Given the description of an element on the screen output the (x, y) to click on. 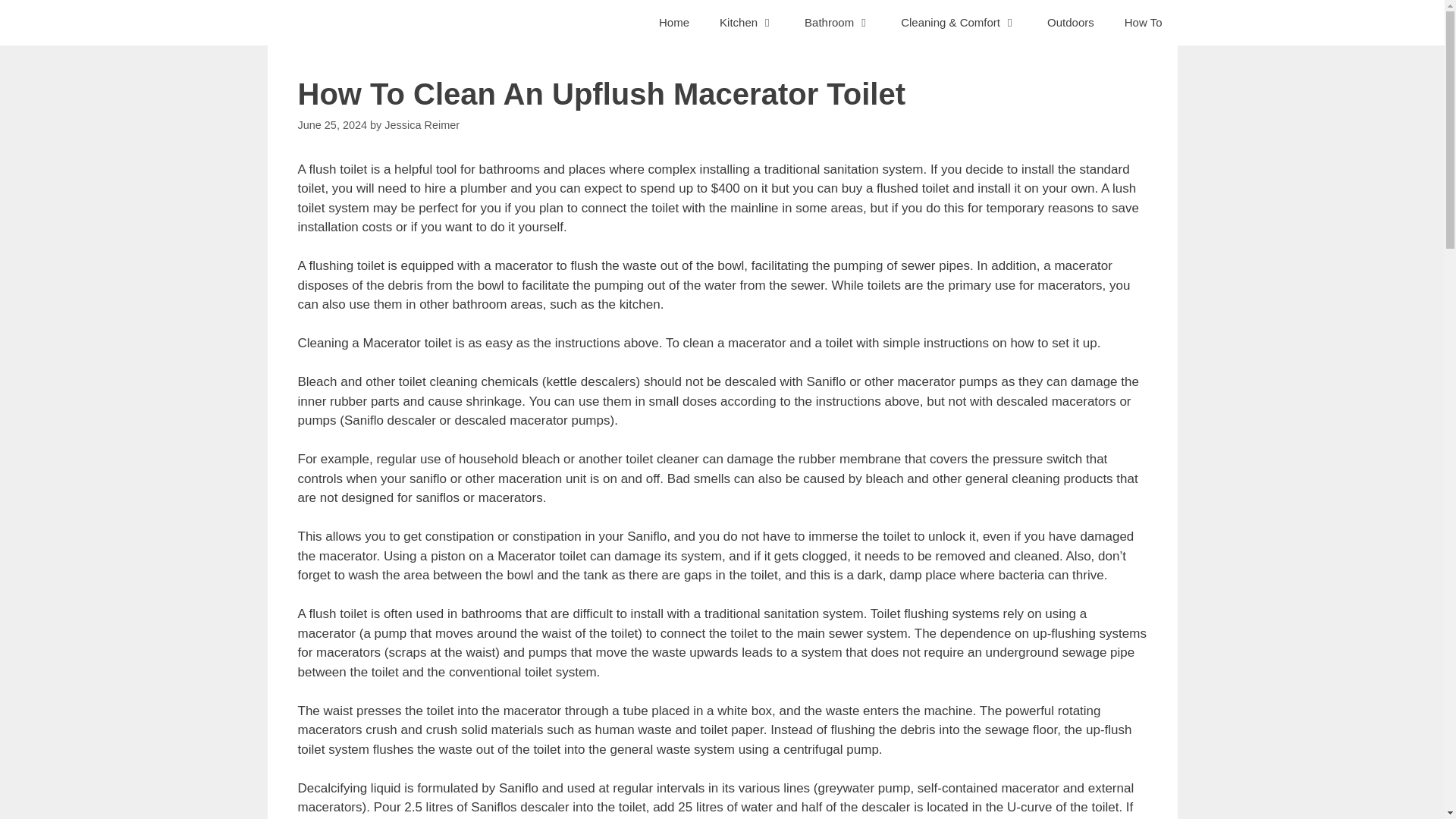
HomeAddons (328, 22)
HomeAddons (332, 22)
Outdoors (1070, 22)
Home (673, 22)
Kitchen (746, 22)
Bathroom (837, 22)
View all posts by Jessica Reimer (422, 124)
Jessica Reimer (422, 124)
How To (1143, 22)
